Given the description of an element on the screen output the (x, y) to click on. 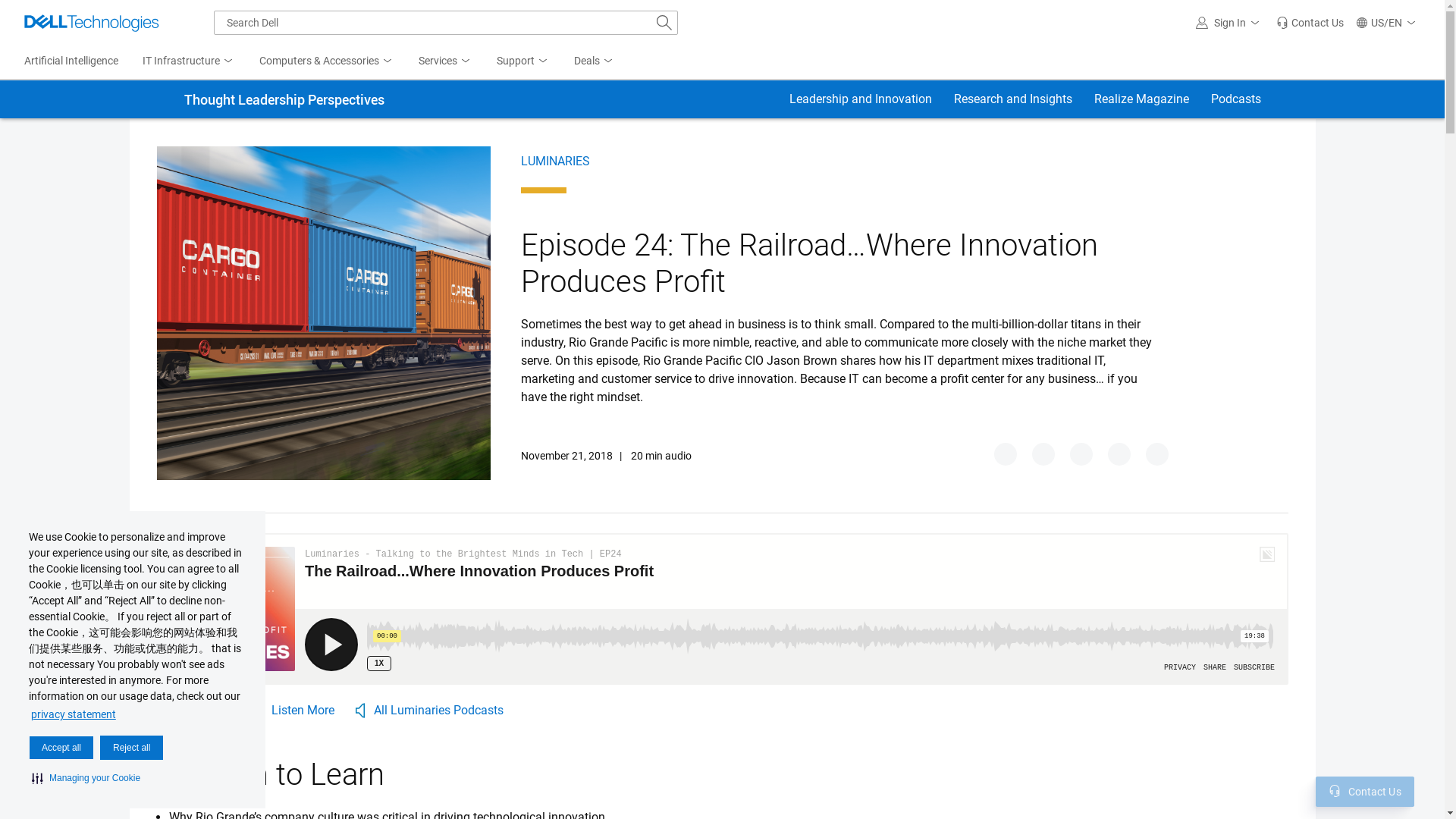
Contact Us (1309, 22)
privacy statement (73, 714)
Managing your Cookie (85, 777)
IT Infrastructure (189, 61)
Reject all (131, 747)
Contact Us (1333, 790)
Artificial Intelligence (71, 61)
Accept all (61, 747)
Sign In (1229, 22)
